Given the description of an element on the screen output the (x, y) to click on. 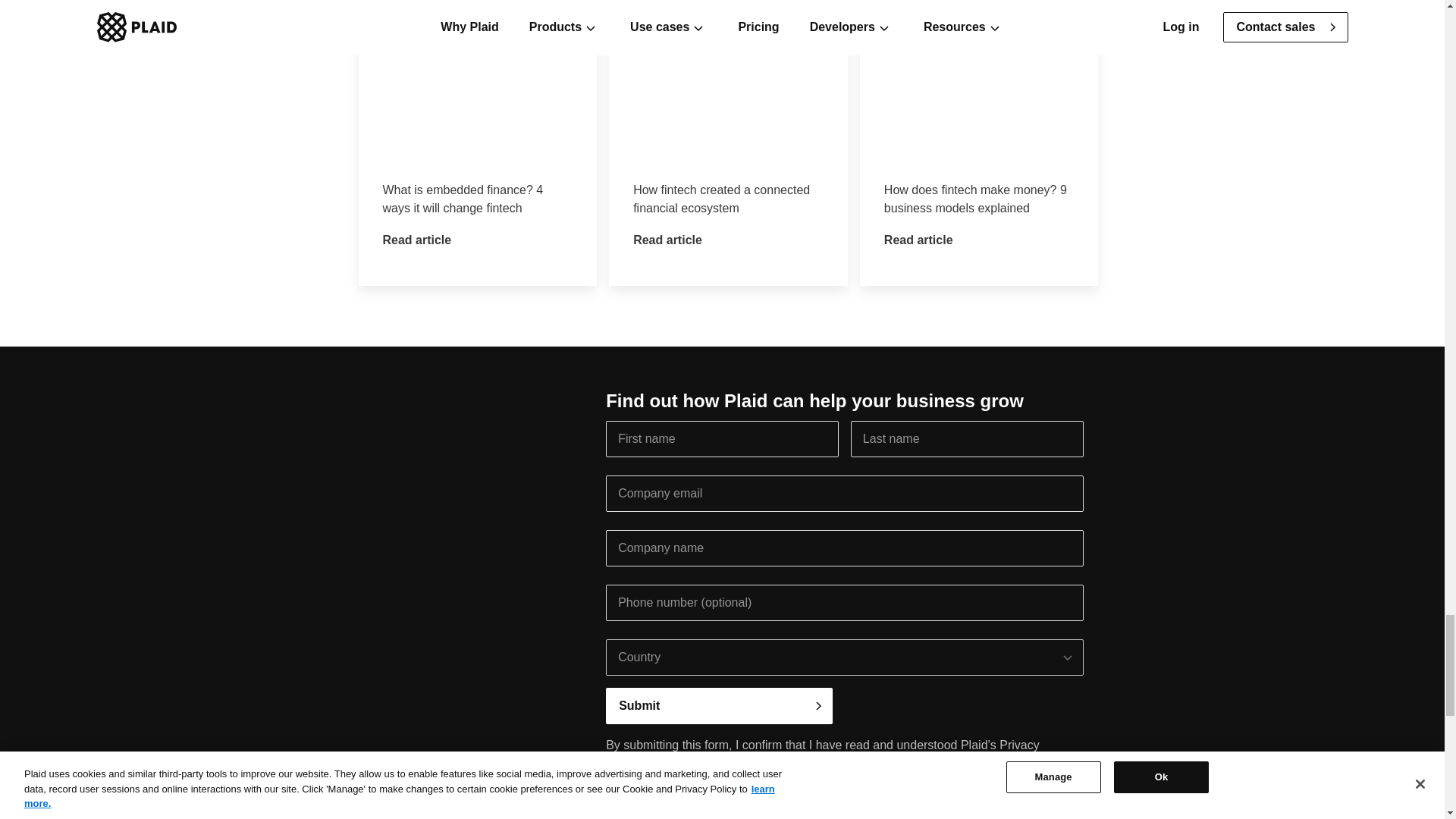
What is embedded finance? 4 ways it will change fintech (477, 142)
How fintech created a connected financial ecosystem (727, 142)
How does fintech make money? 9 business models explained (979, 142)
